Given the description of an element on the screen output the (x, y) to click on. 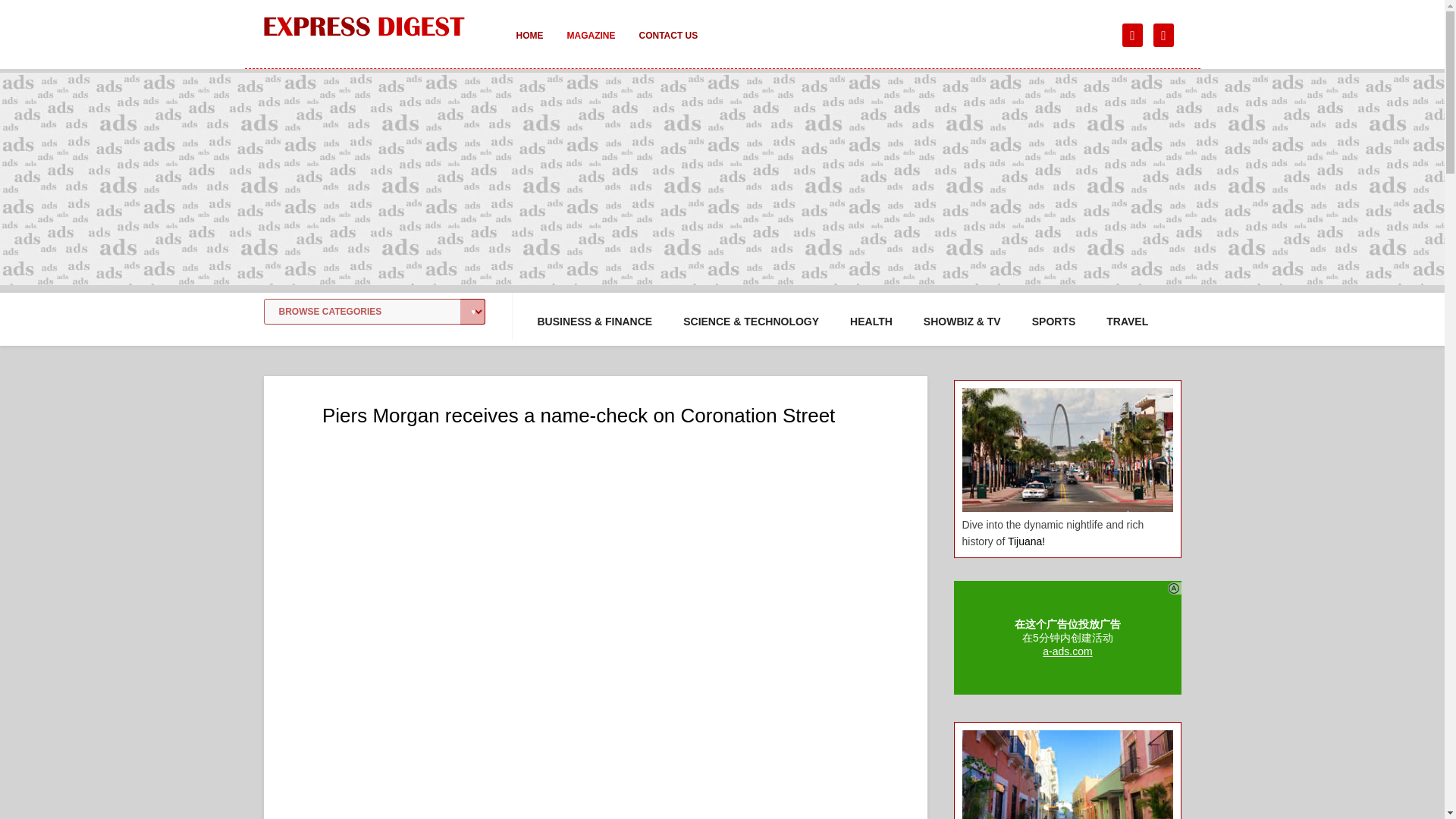
Tijuana! (1026, 541)
SPORTS (1053, 321)
CONTACT US (667, 45)
MAGAZINE (590, 45)
HEALTH (871, 321)
TRAVEL (1127, 321)
